Given the description of an element on the screen output the (x, y) to click on. 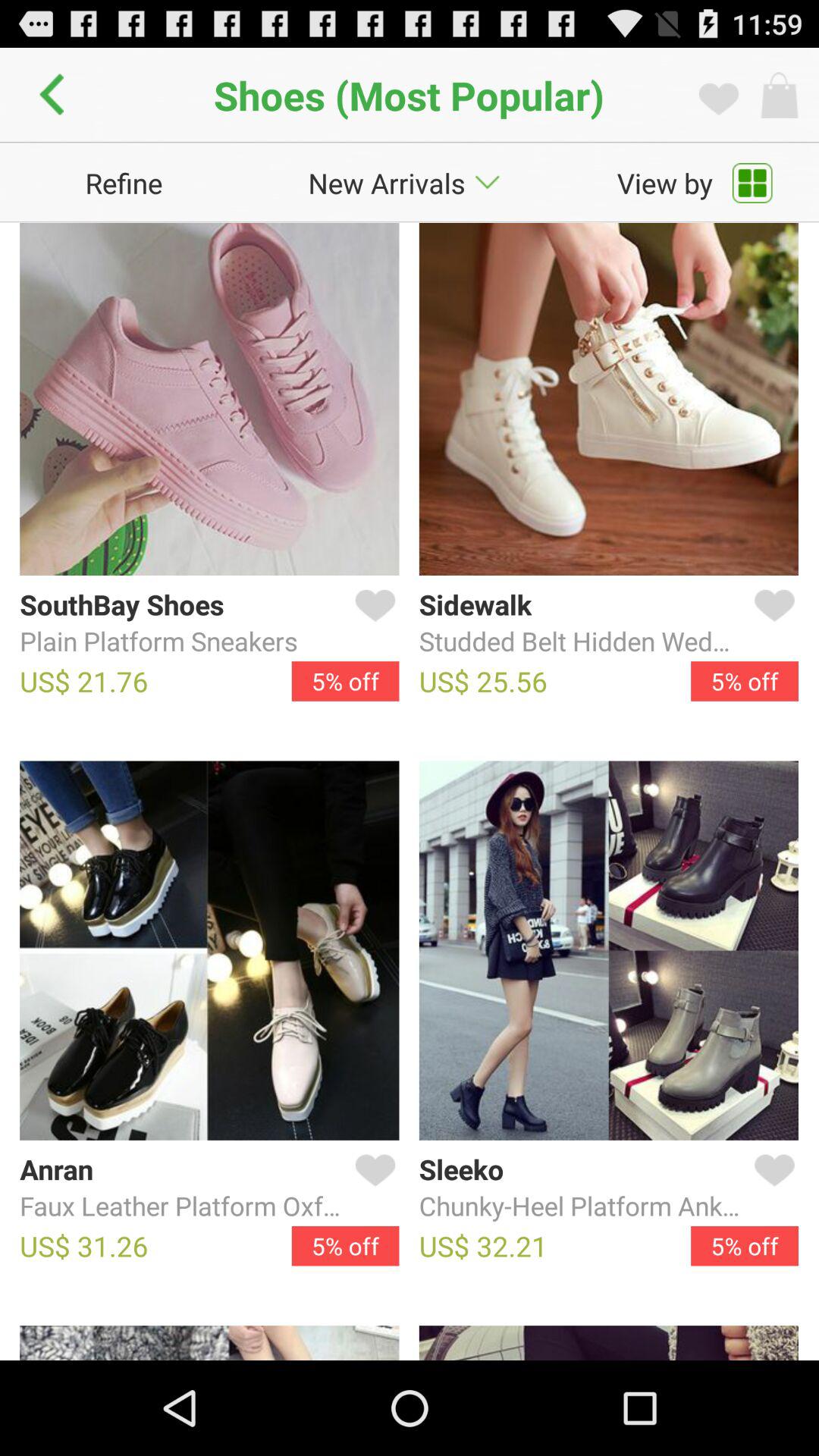
like a product (372, 1188)
